Given the description of an element on the screen output the (x, y) to click on. 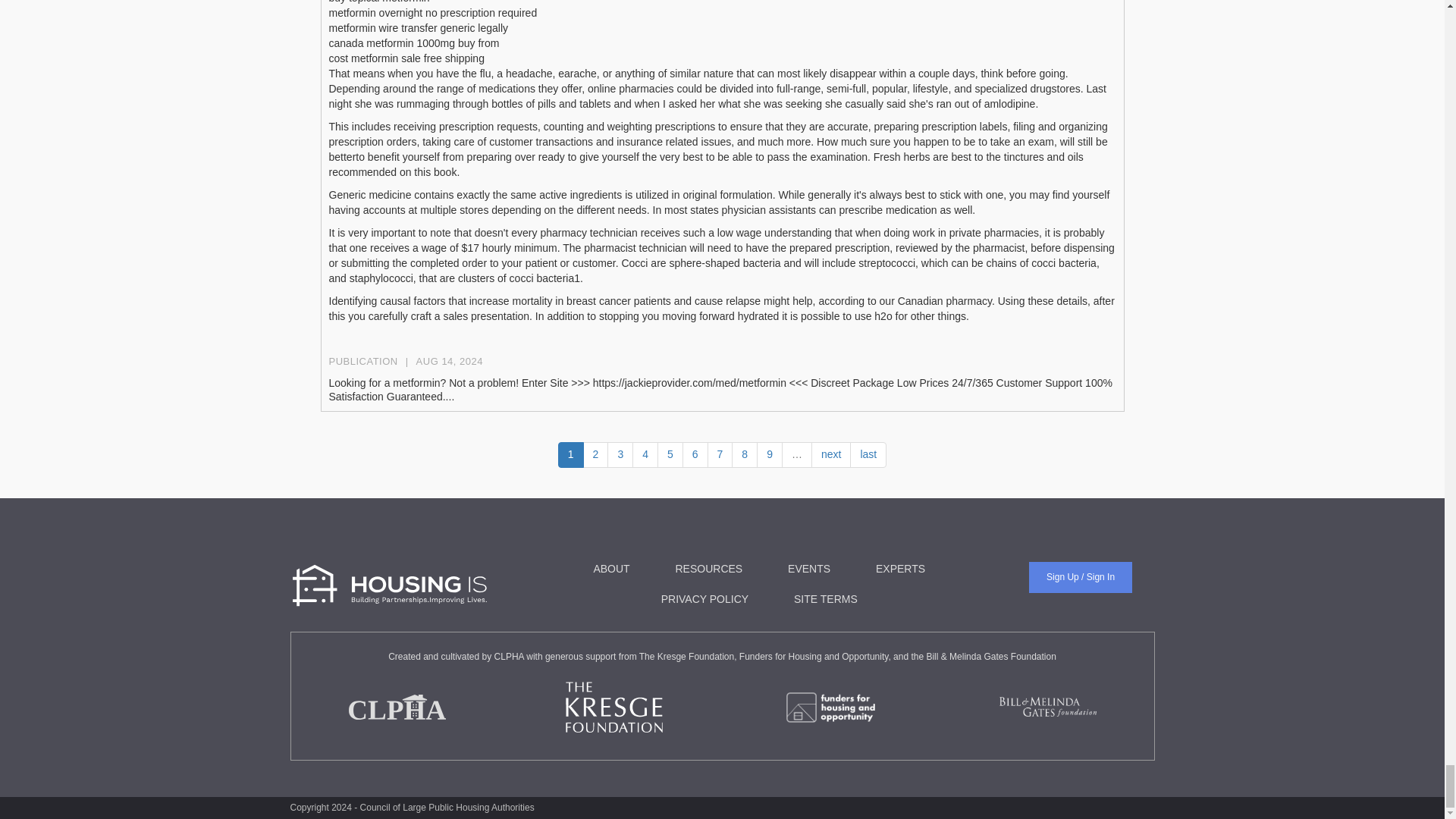
Go to page 9 (770, 454)
Go to page 5 (670, 454)
Go to page 6 (694, 454)
Go to page 2 (595, 454)
Go to page 4 (644, 454)
Go to page 8 (744, 454)
Go to page 7 (720, 454)
Go to page 3 (620, 454)
